Given the description of an element on the screen output the (x, y) to click on. 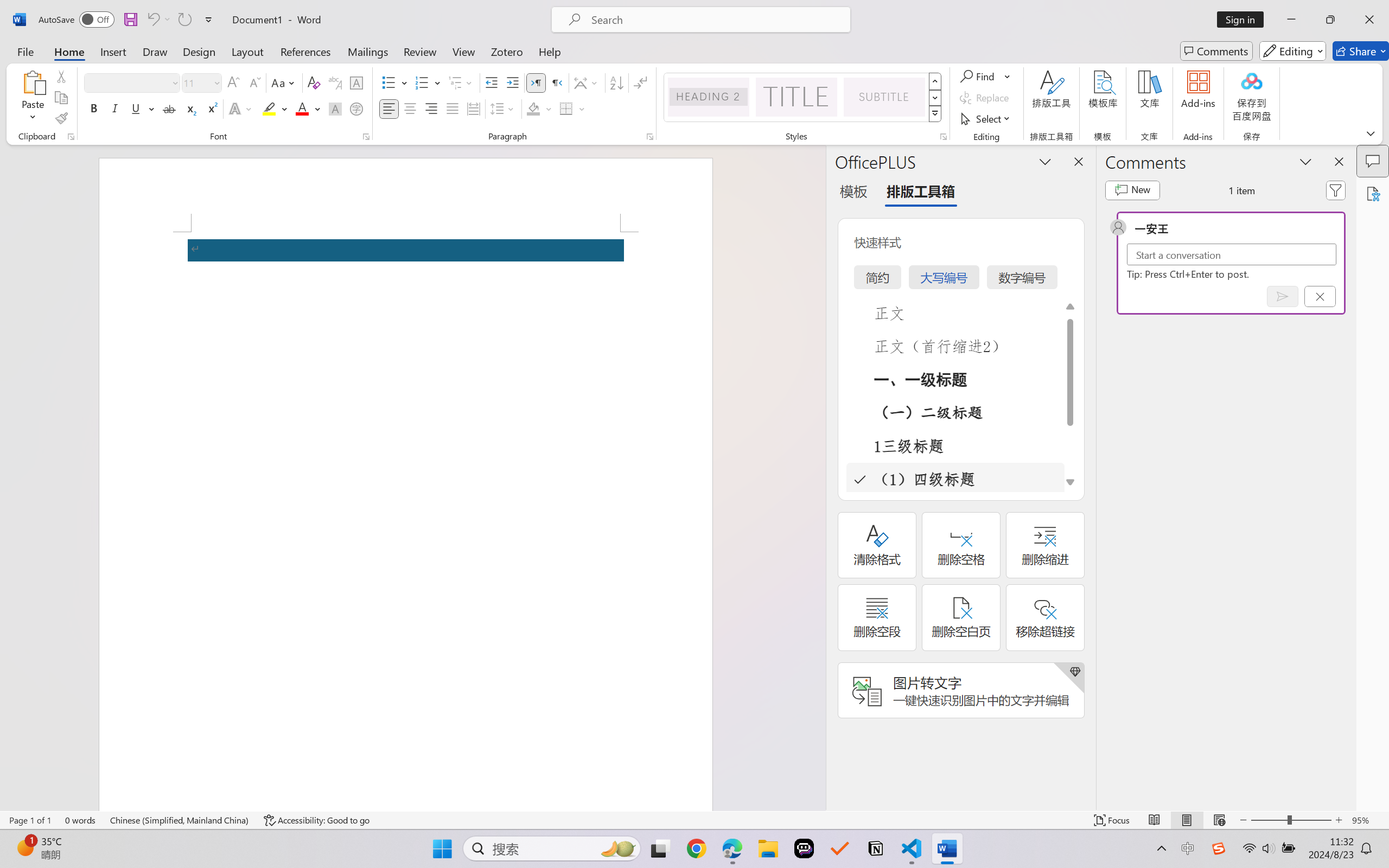
AutomationID: QuickStylesGallery (802, 97)
Subtitle (883, 96)
Shading No Color (533, 108)
Title (796, 96)
